Given the description of an element on the screen output the (x, y) to click on. 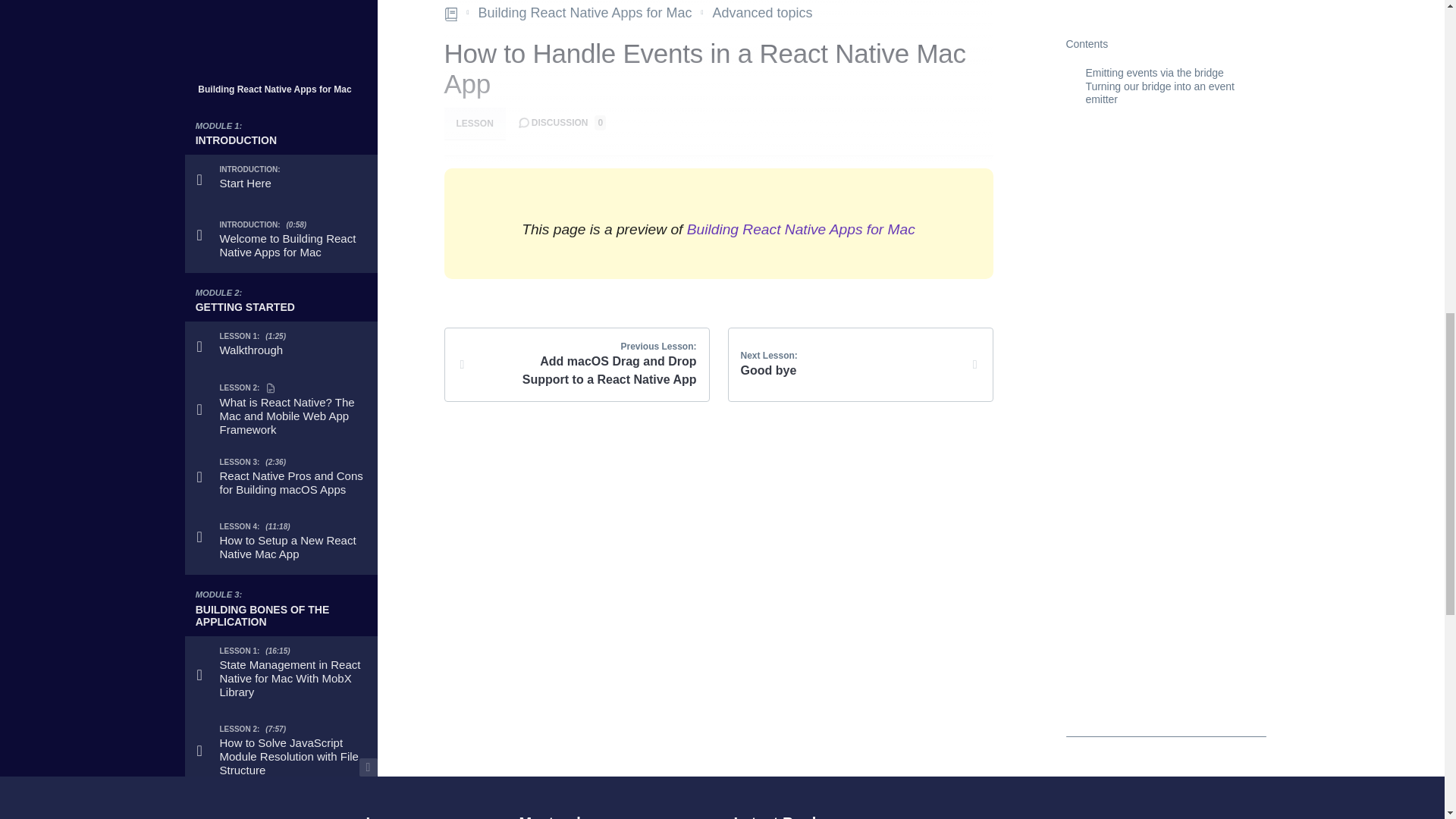
Building React Native Apps for Mac (280, 130)
